Given the description of an element on the screen output the (x, y) to click on. 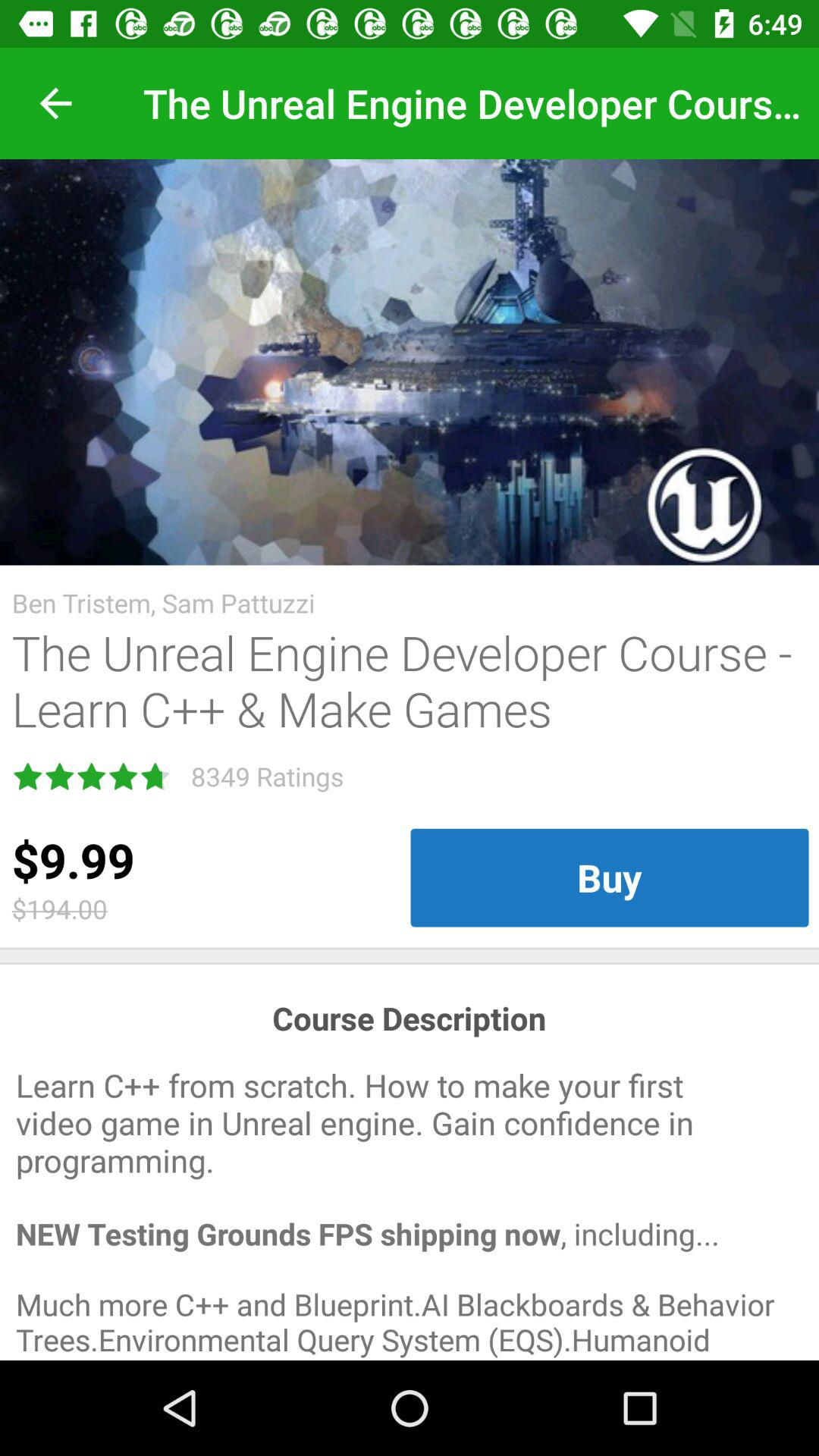
click icon above ben tristem sam icon (409, 362)
